Given the description of an element on the screen output the (x, y) to click on. 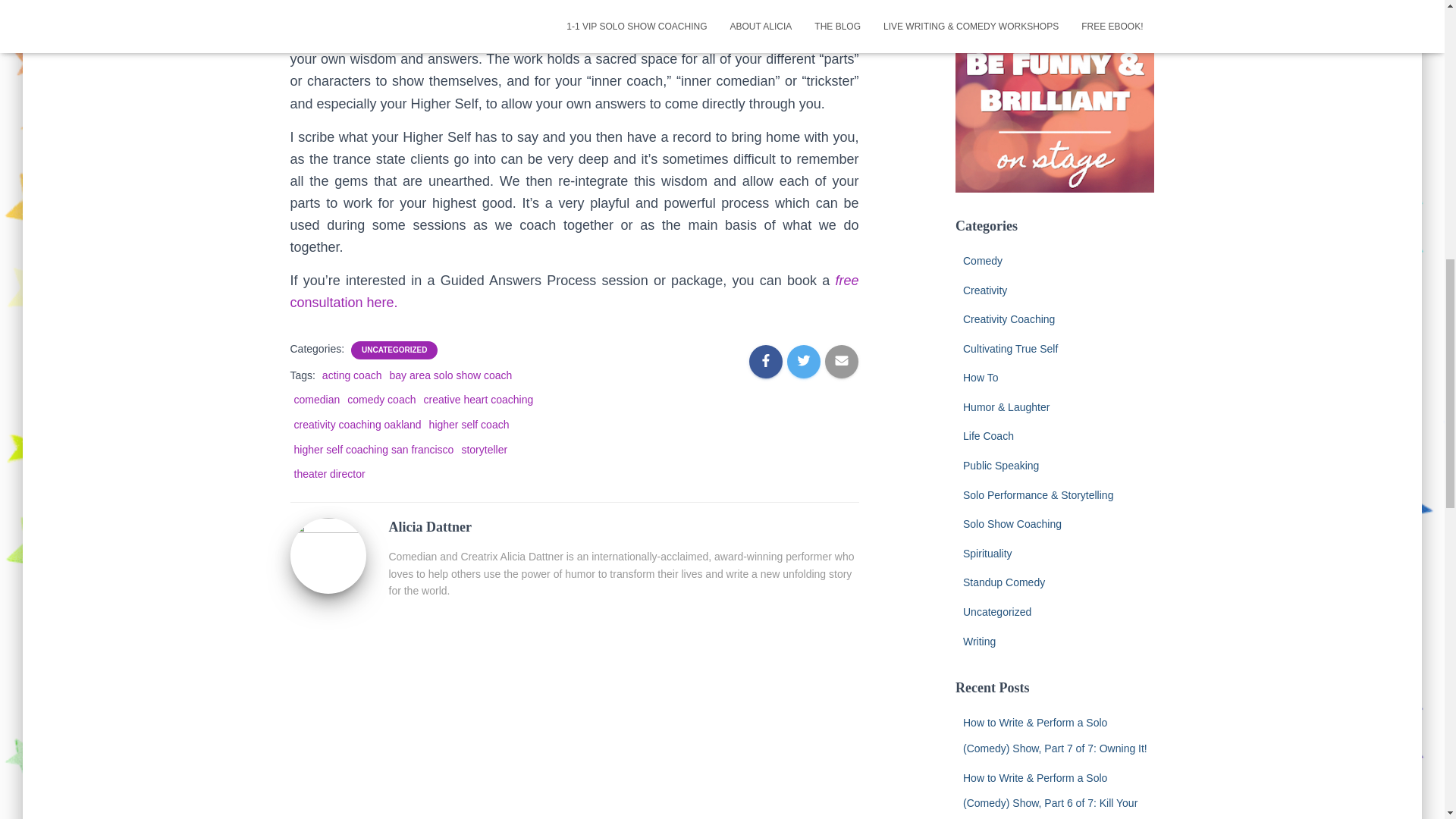
Life Coach (987, 435)
Standup Comedy (1003, 582)
UNCATEGORIZED (393, 349)
acting coach (351, 375)
Alicia Dattner (327, 553)
Solo Show Coaching (1011, 523)
theater director (329, 473)
higher self coaching san francisco (374, 449)
comedian (317, 399)
creative heart coaching (477, 399)
